Given the description of an element on the screen output the (x, y) to click on. 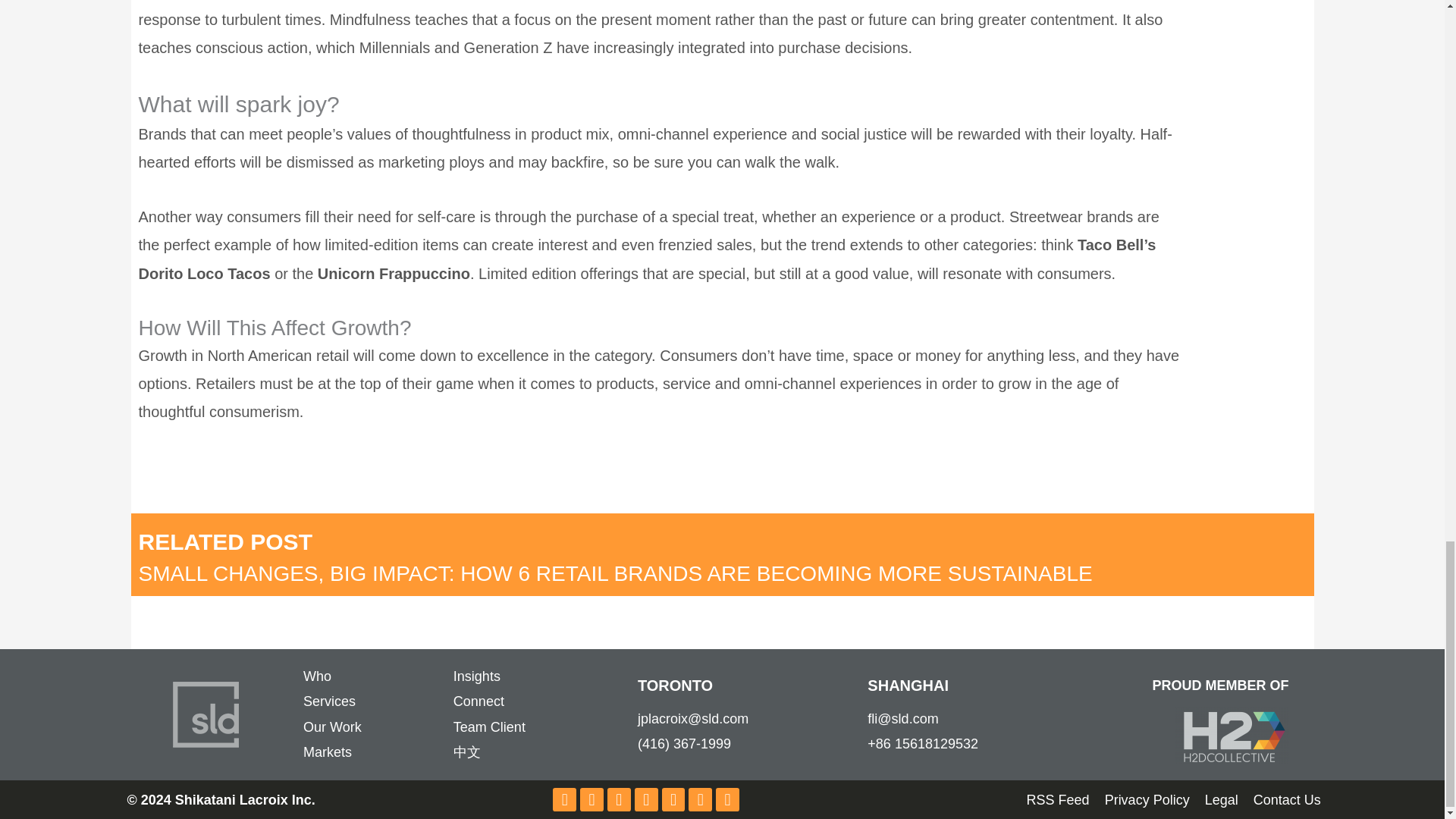
Screen Shot 2021-09-16 at 10.43.10 AM (1231, 734)
